Given the description of an element on the screen output the (x, y) to click on. 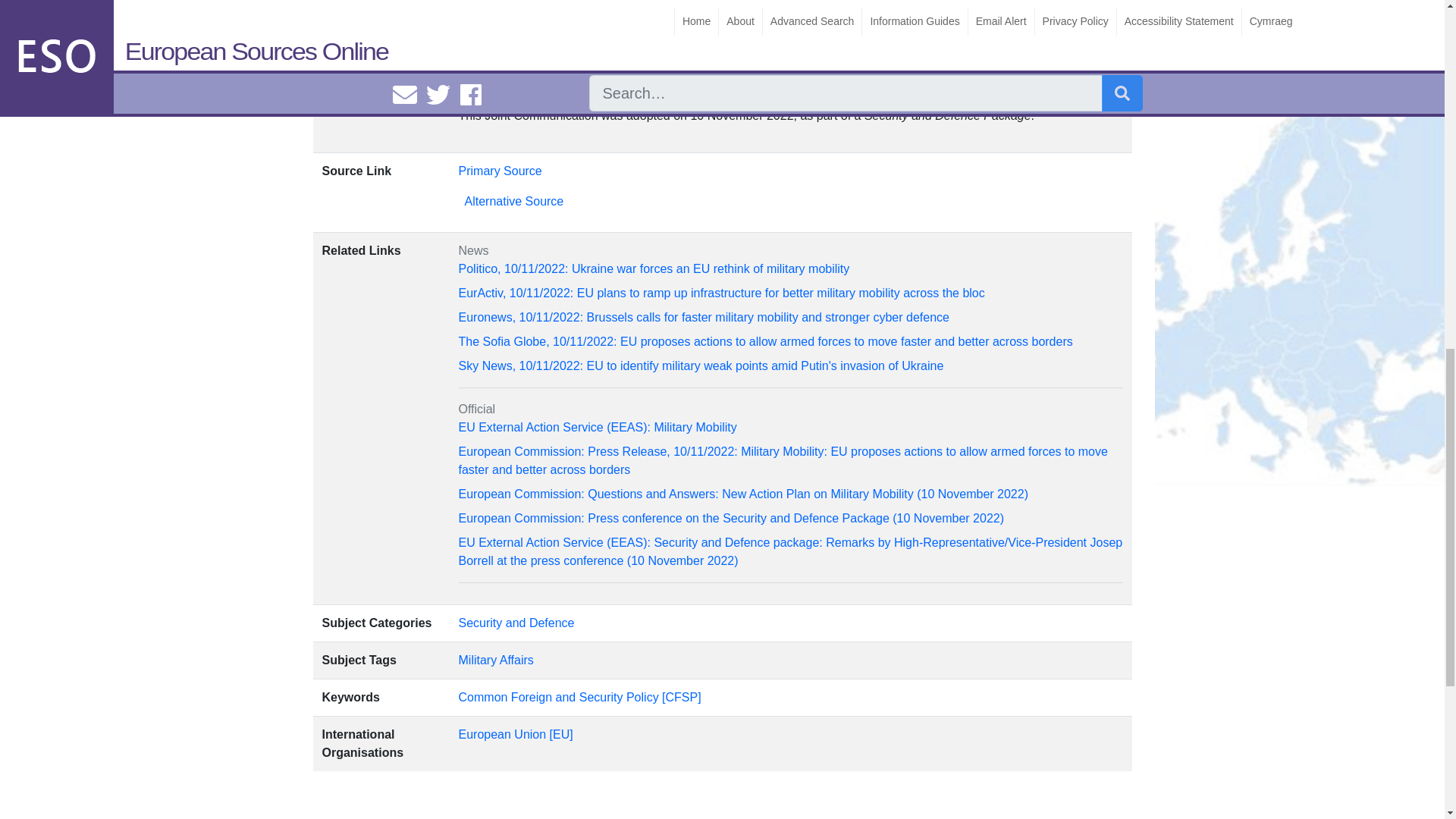
Primary Source (499, 170)
Security and Defence (516, 622)
Alternative Source (514, 201)
Military Affairs (496, 659)
